Given the description of an element on the screen output the (x, y) to click on. 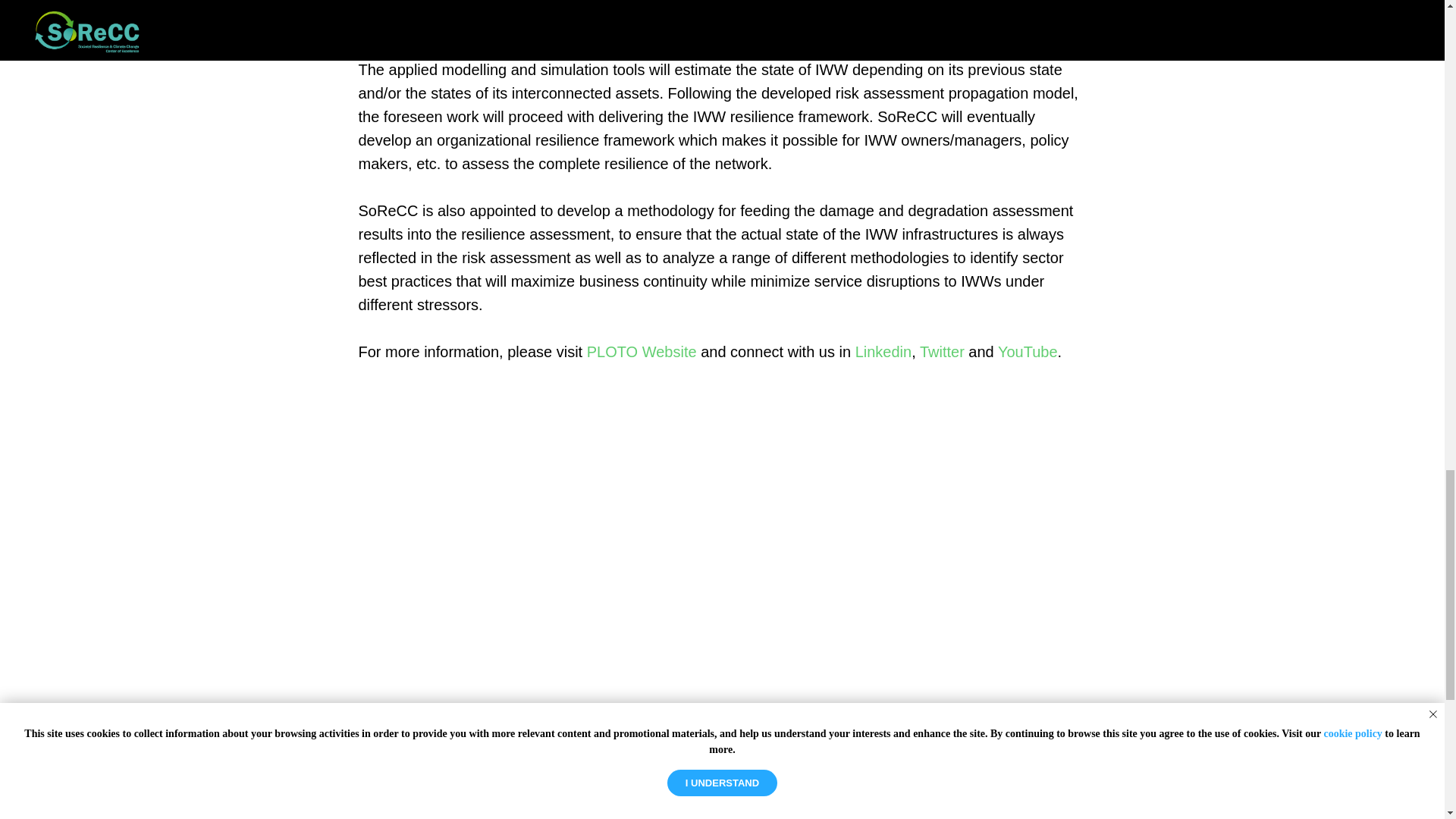
YouTube (1027, 351)
PLOTO Website (641, 351)
Linkedin (884, 351)
Twitter (941, 351)
